Given the description of an element on the screen output the (x, y) to click on. 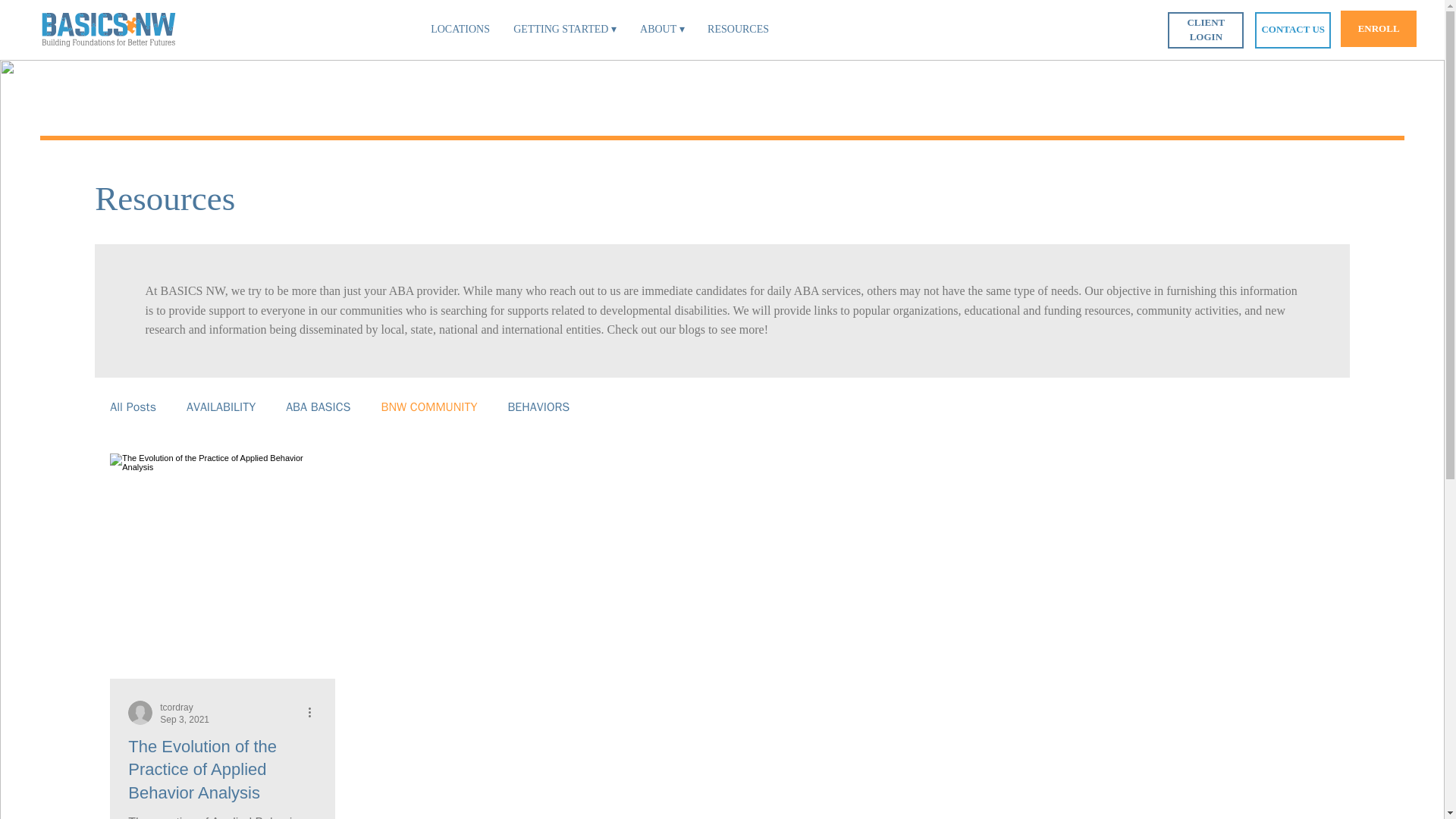
ENROLL (1378, 28)
tcordray (176, 706)
All Posts (132, 407)
RESOURCES (737, 28)
AVAILABILITY (221, 407)
Sep 3, 2021 (184, 719)
ABA BASICS (317, 407)
CONTACT US (1292, 30)
LOCATIONS (459, 28)
BNW COMMUNITY (428, 407)
